Given the description of an element on the screen output the (x, y) to click on. 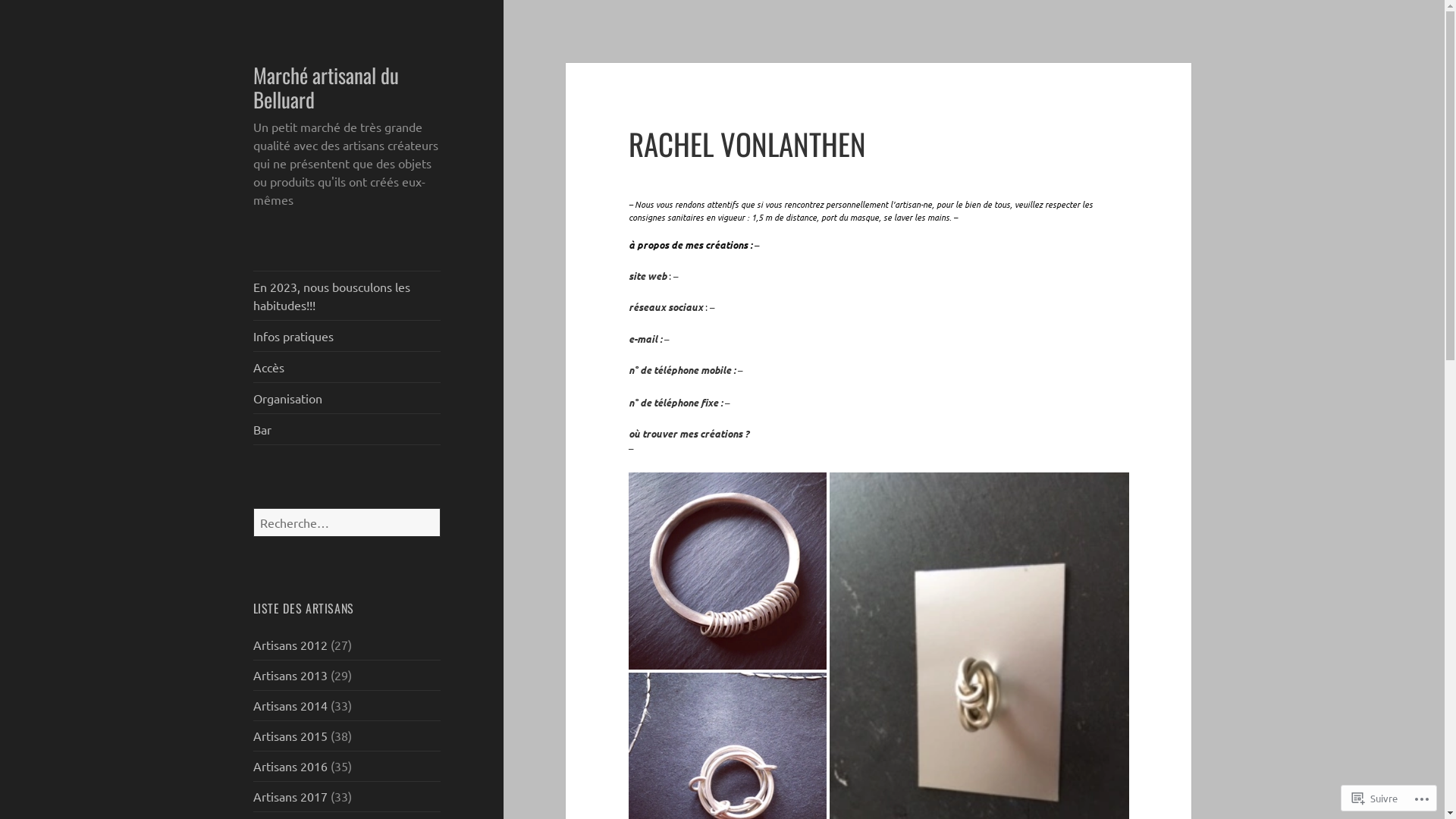
Artisans 2016 Element type: text (290, 765)
Artisans 2012 Element type: text (290, 644)
Artisans 2014 Element type: text (290, 704)
Bar Element type: text (347, 429)
Artisans 2013 Element type: text (290, 674)
Artisans 2015 Element type: text (290, 735)
Suivre Element type: text (1374, 797)
Organisation Element type: text (347, 397)
Infos pratiques Element type: text (347, 335)
En 2023, nous bousculons les habitudes!!! Element type: text (347, 295)
Artisans 2017 Element type: text (290, 795)
